Given the description of an element on the screen output the (x, y) to click on. 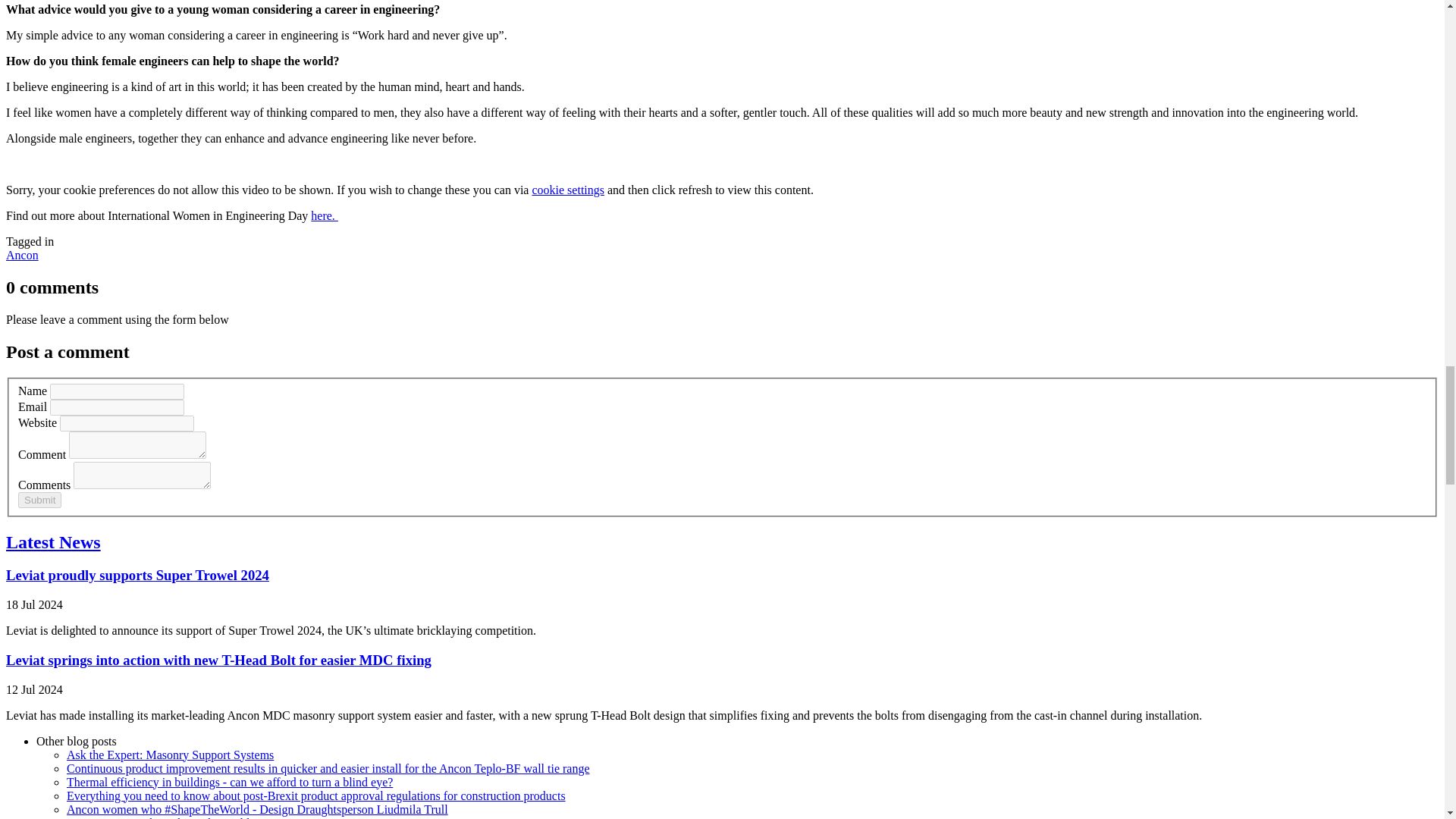
Submit (39, 499)
Leviat proudly supports Super Trowel 2024 (137, 575)
Ancon (22, 254)
here.  (324, 215)
Latest News (52, 542)
Ask the Expert: Masonry Support Systems (169, 754)
cookie settings (567, 189)
Other blog posts (76, 740)
